Given the description of an element on the screen output the (x, y) to click on. 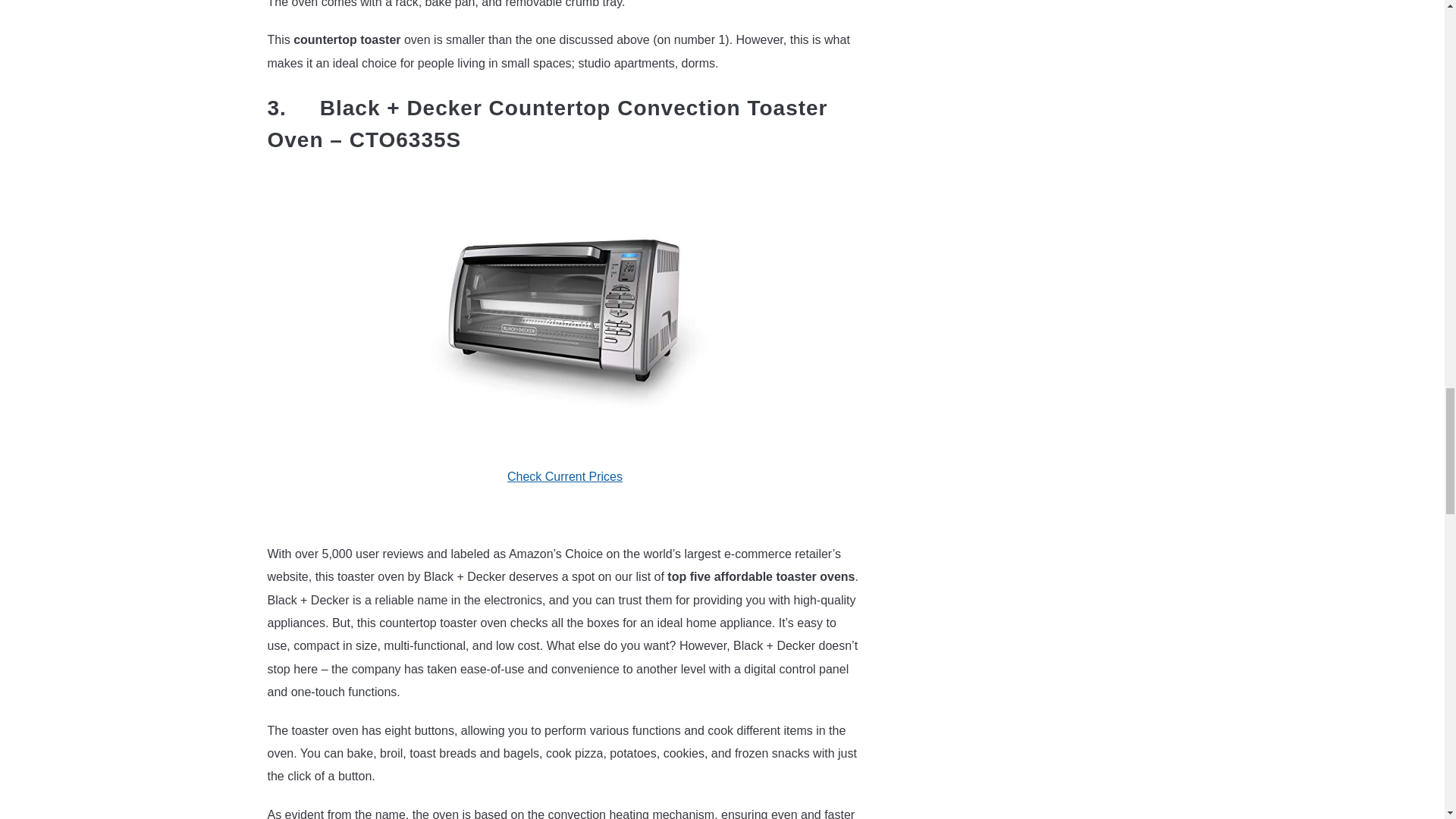
Check Current Prices (564, 476)
